Given the description of an element on the screen output the (x, y) to click on. 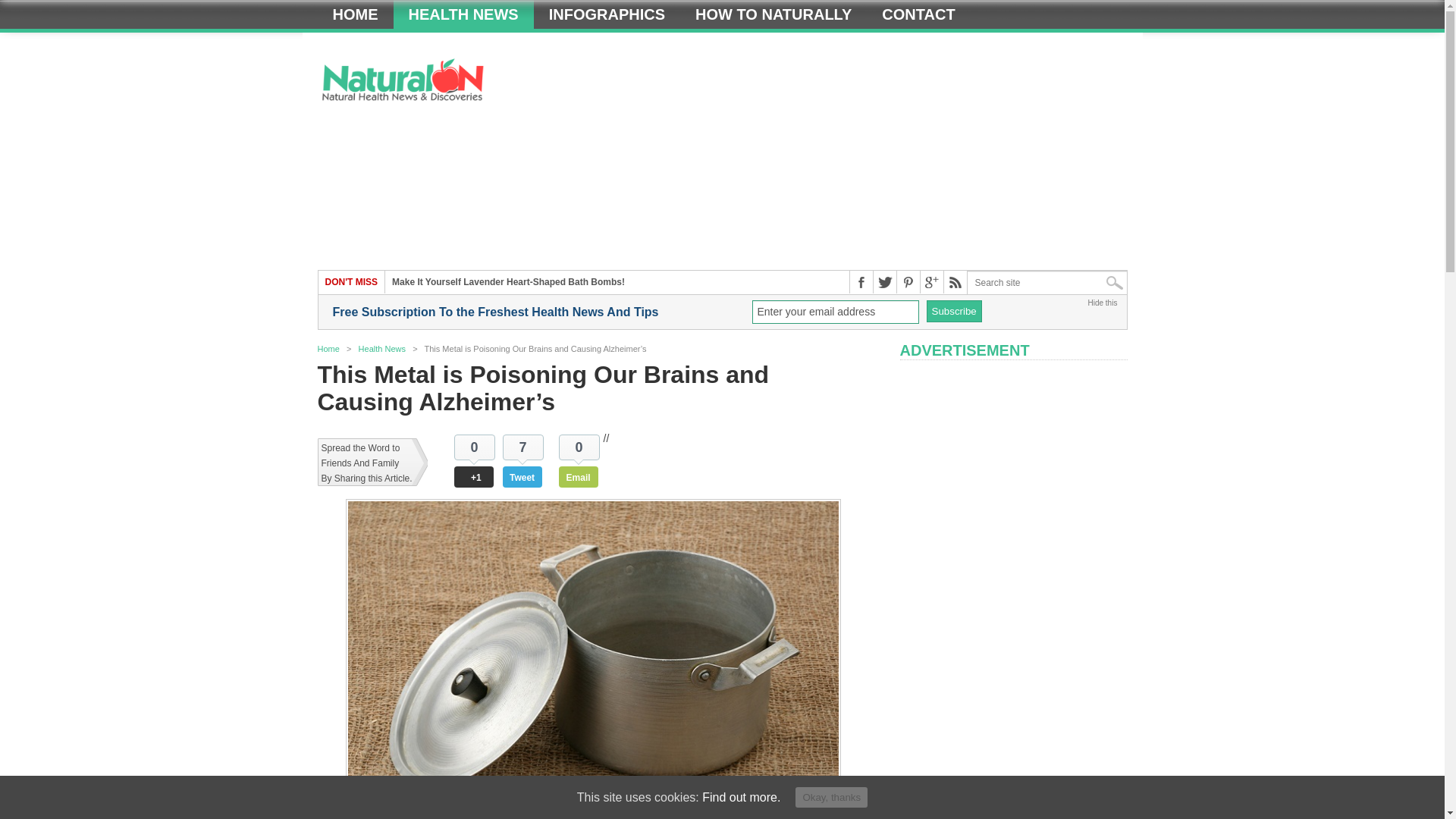
Home (355, 14)
Email (578, 476)
0 (474, 447)
Subscribe (953, 311)
Make It Yourself Lavender Heart-Shaped Bath Bombs! (507, 281)
How to Naturally (772, 14)
7 (522, 447)
Health News (462, 14)
HEALTH NEWS (462, 14)
0 (579, 447)
